Given the description of an element on the screen output the (x, y) to click on. 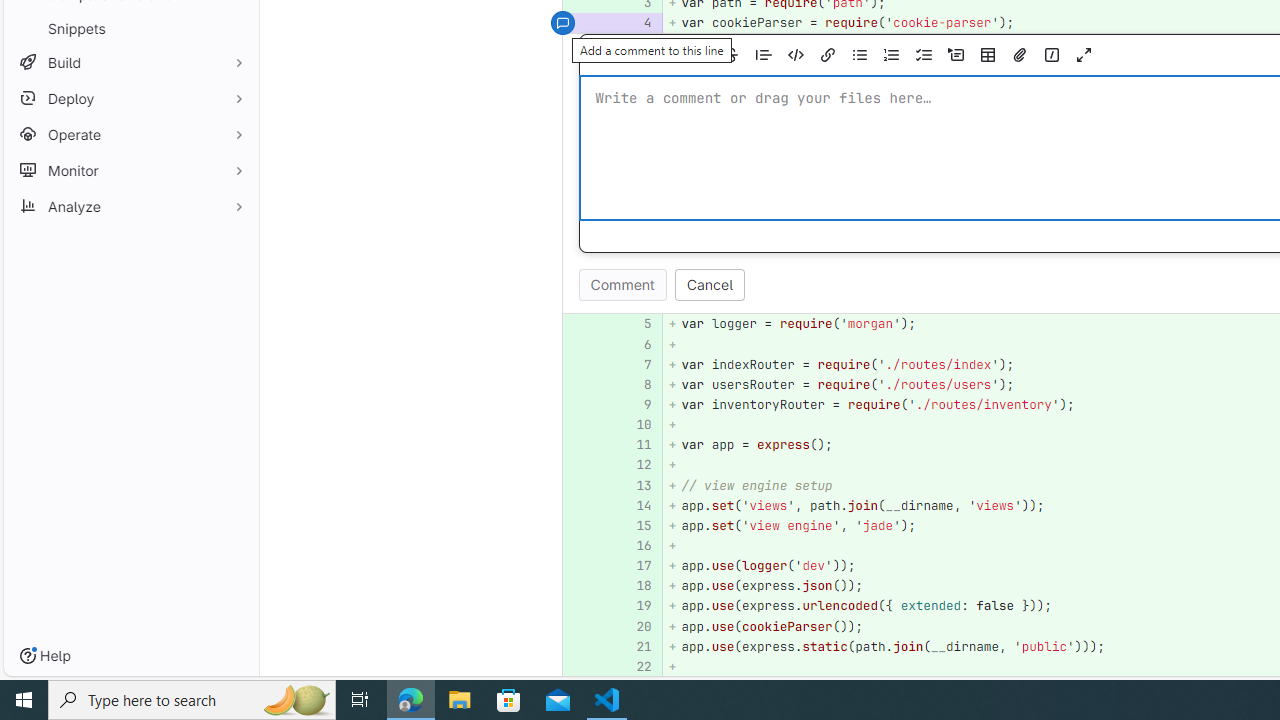
Class: div-dropzone-icon s24 (1182, 148)
Build (130, 62)
19 (637, 606)
8 (633, 384)
Deploy (130, 98)
6 (637, 344)
19 (633, 606)
18 (633, 586)
Pin Snippets (234, 28)
5 (637, 323)
Add a numbered list (891, 55)
8 (637, 384)
22 (633, 665)
9 (633, 404)
Go full screen (1083, 55)
